Given the description of an element on the screen output the (x, y) to click on. 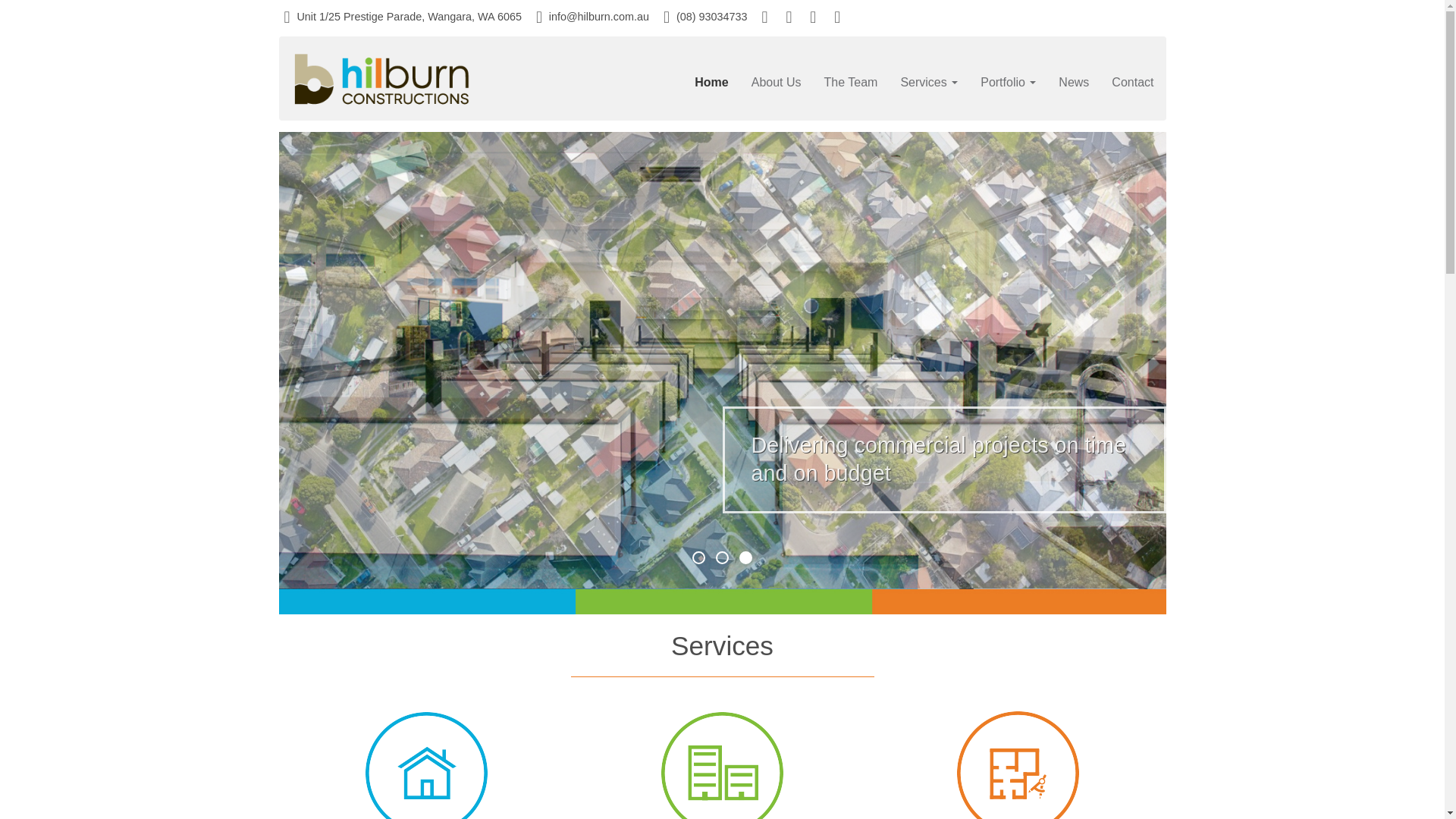
3 Element type: text (745, 557)
2 Element type: text (721, 557)
Services Element type: text (928, 82)
News Element type: text (1073, 82)
Home Element type: text (711, 82)
About Us Element type: text (776, 82)
Contact Element type: text (1132, 82)
Portfolio Element type: text (1008, 82)
1 Element type: text (698, 557)
The Team Element type: text (850, 82)
Hilburn Constructions Element type: hover (381, 78)
